Given the description of an element on the screen output the (x, y) to click on. 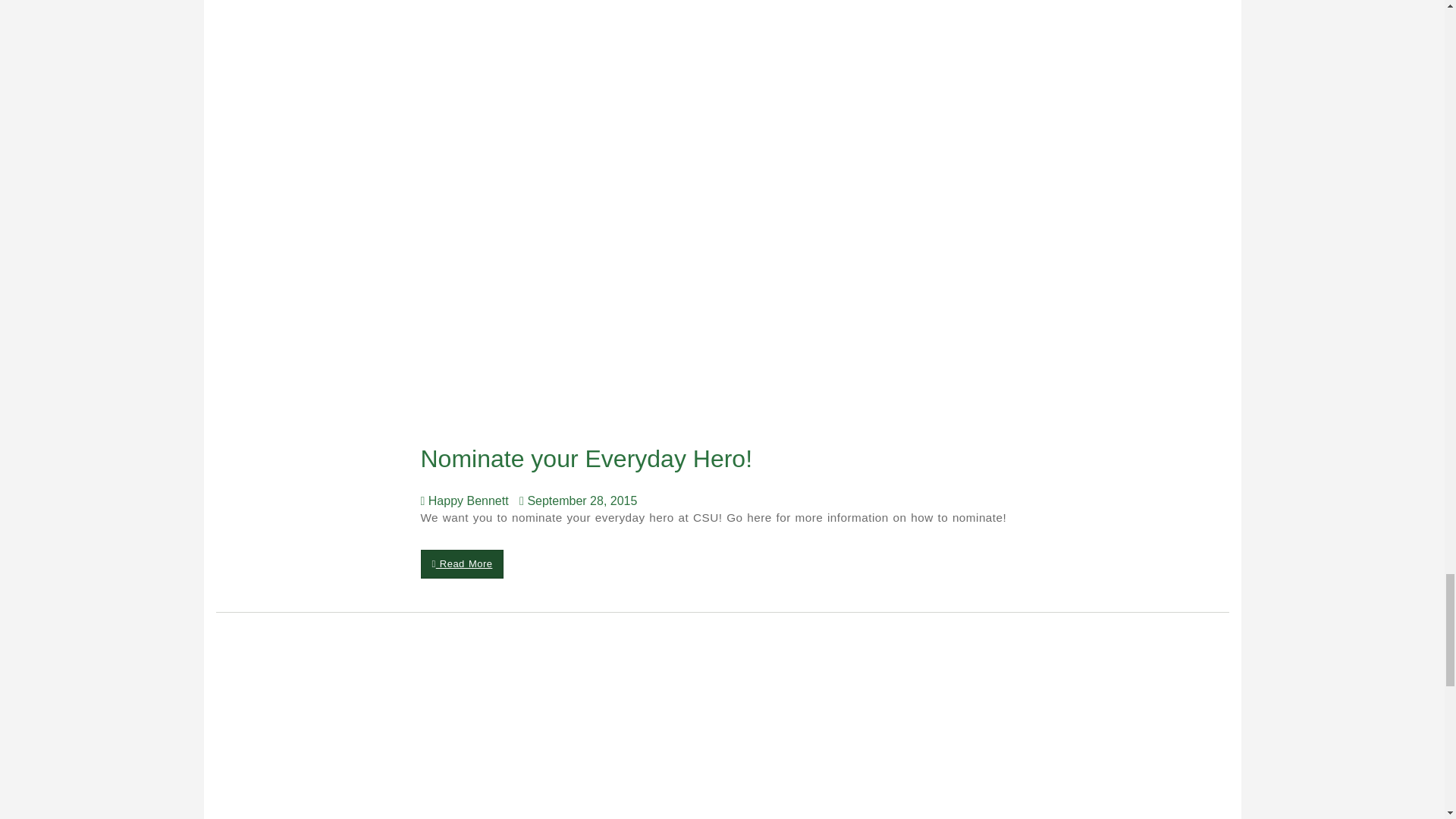
Posts by Happy Bennett (467, 500)
Nominate your Everyday Hero! (590, 458)
Happy Bennett (467, 500)
